Given the description of an element on the screen output the (x, y) to click on. 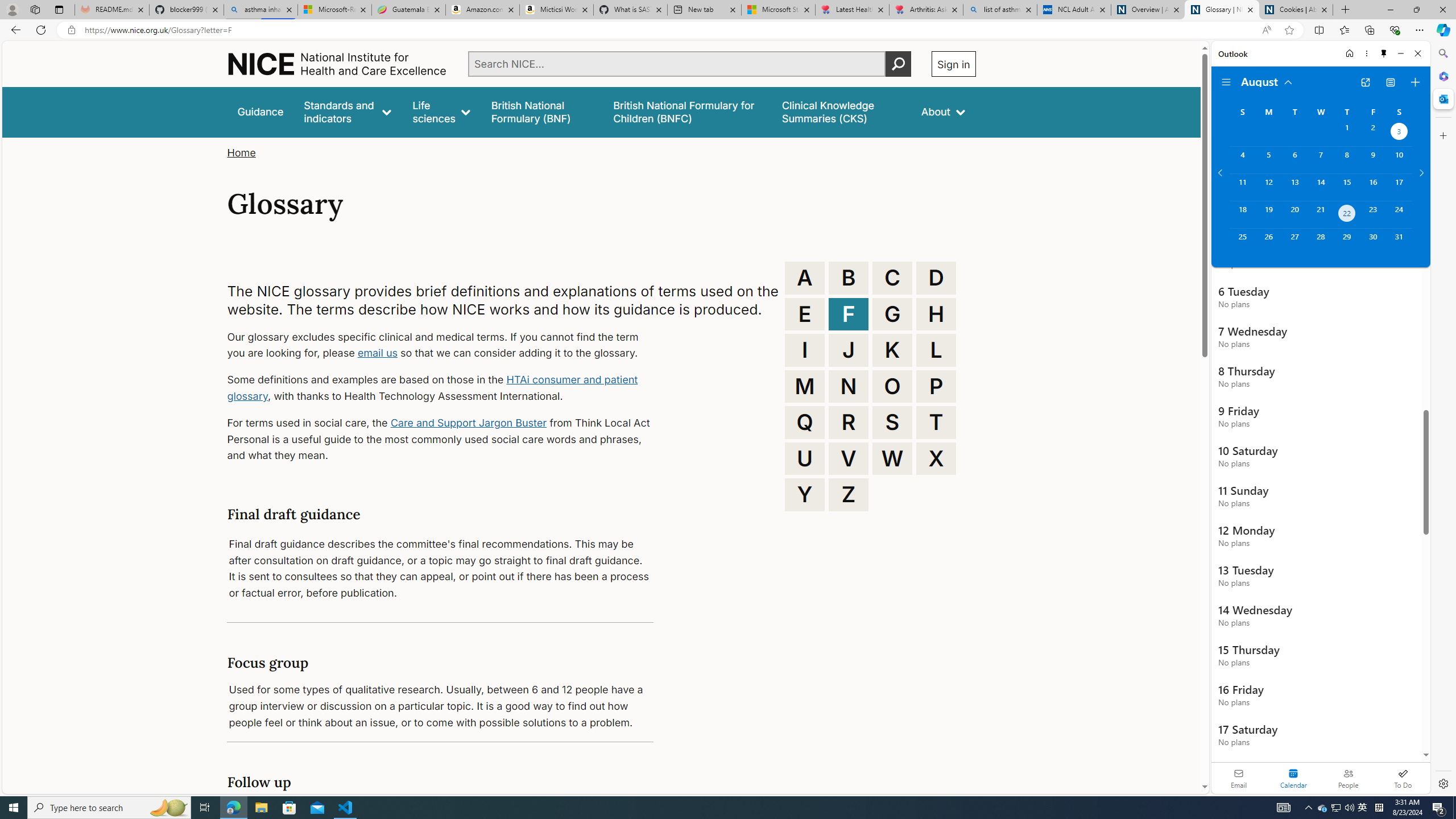
I (804, 350)
Saturday, August 24, 2024.  (1399, 214)
N (848, 385)
British National Formulary for Children (BNFC) (686, 111)
Monday, August 5, 2024.  (1268, 159)
K (892, 350)
